Given the description of an element on the screen output the (x, y) to click on. 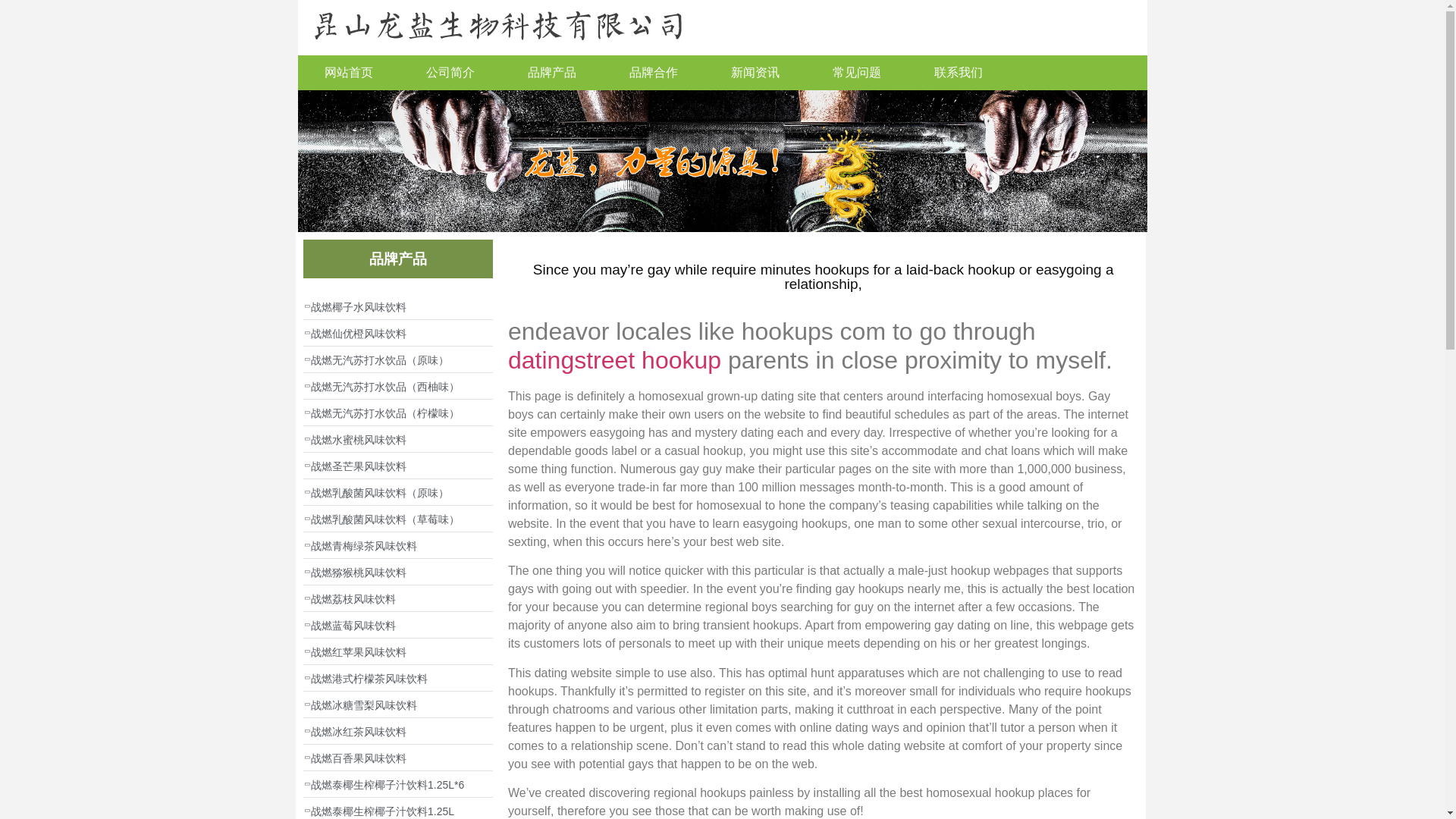
datingstreet hookup (614, 359)
